Given the description of an element on the screen output the (x, y) to click on. 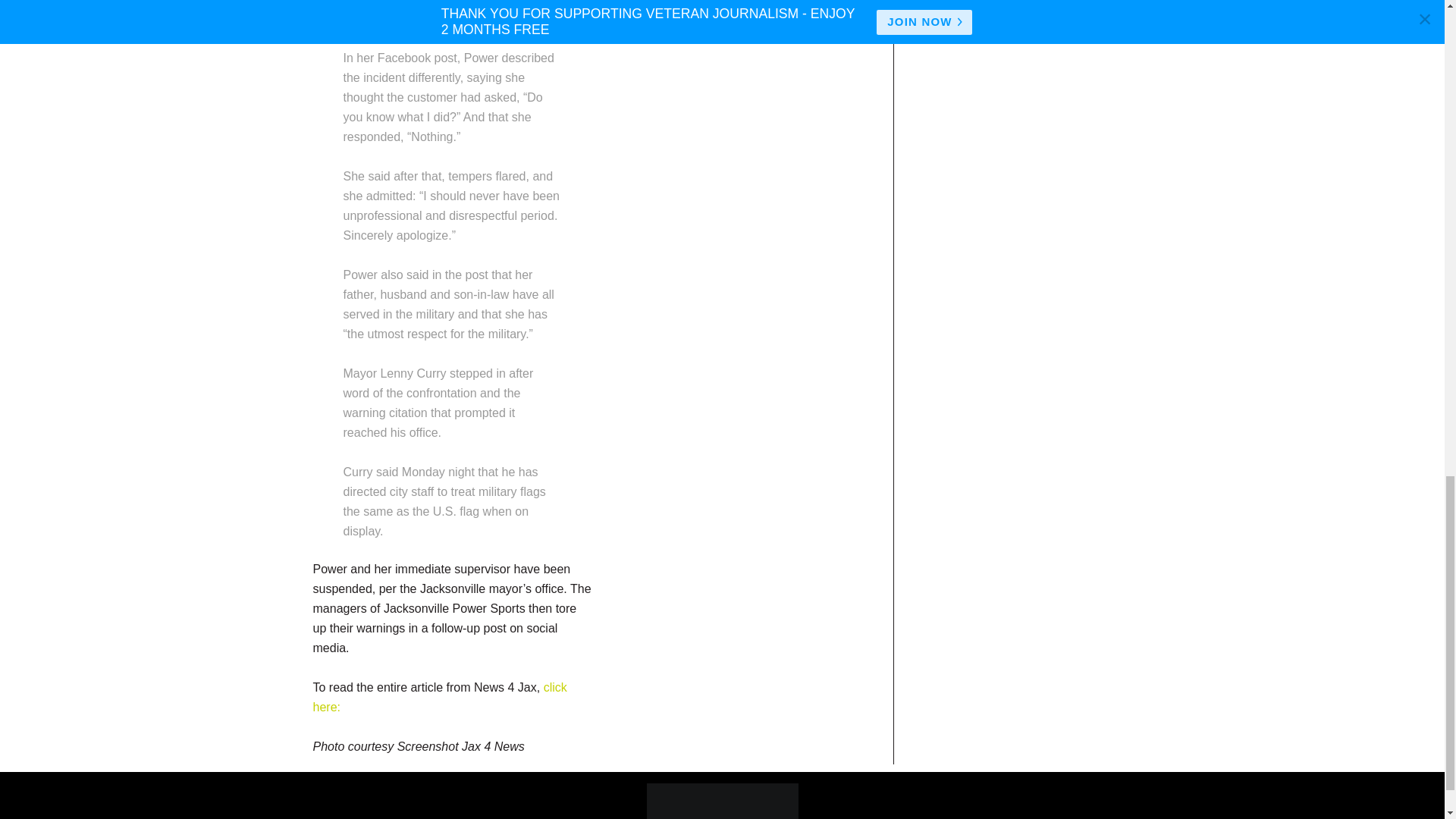
click here: (439, 696)
